Given the description of an element on the screen output the (x, y) to click on. 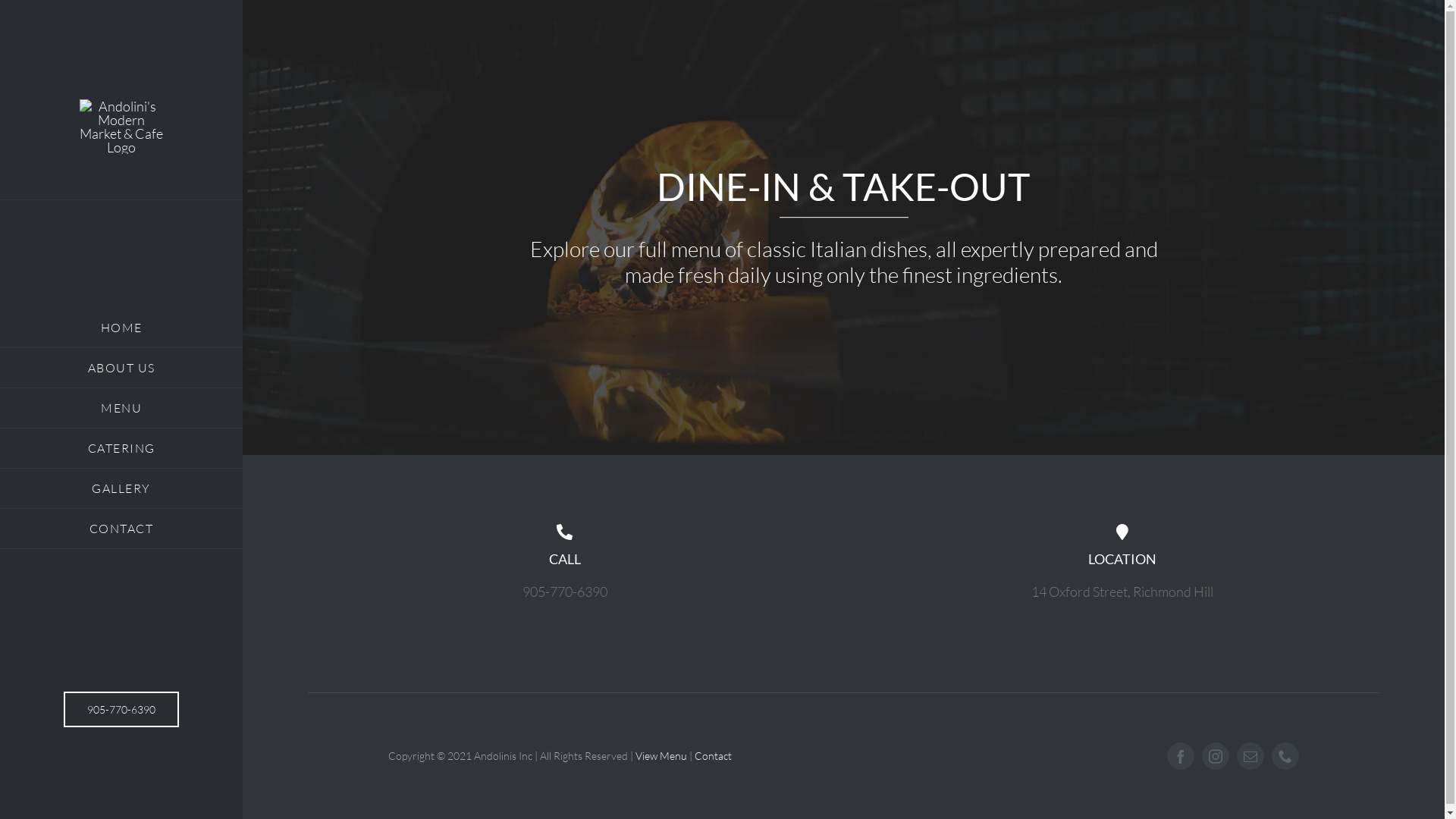
ABOUT US Element type: text (121, 368)
MENU Element type: text (121, 408)
HOME Element type: text (121, 327)
CONTACT Element type: text (121, 528)
Contact Element type: text (712, 755)
905-770-6390 Element type: text (120, 709)
CATERING Element type: text (121, 448)
GALLERY Element type: text (121, 488)
View Menu Element type: text (661, 755)
